Given the description of an element on the screen output the (x, y) to click on. 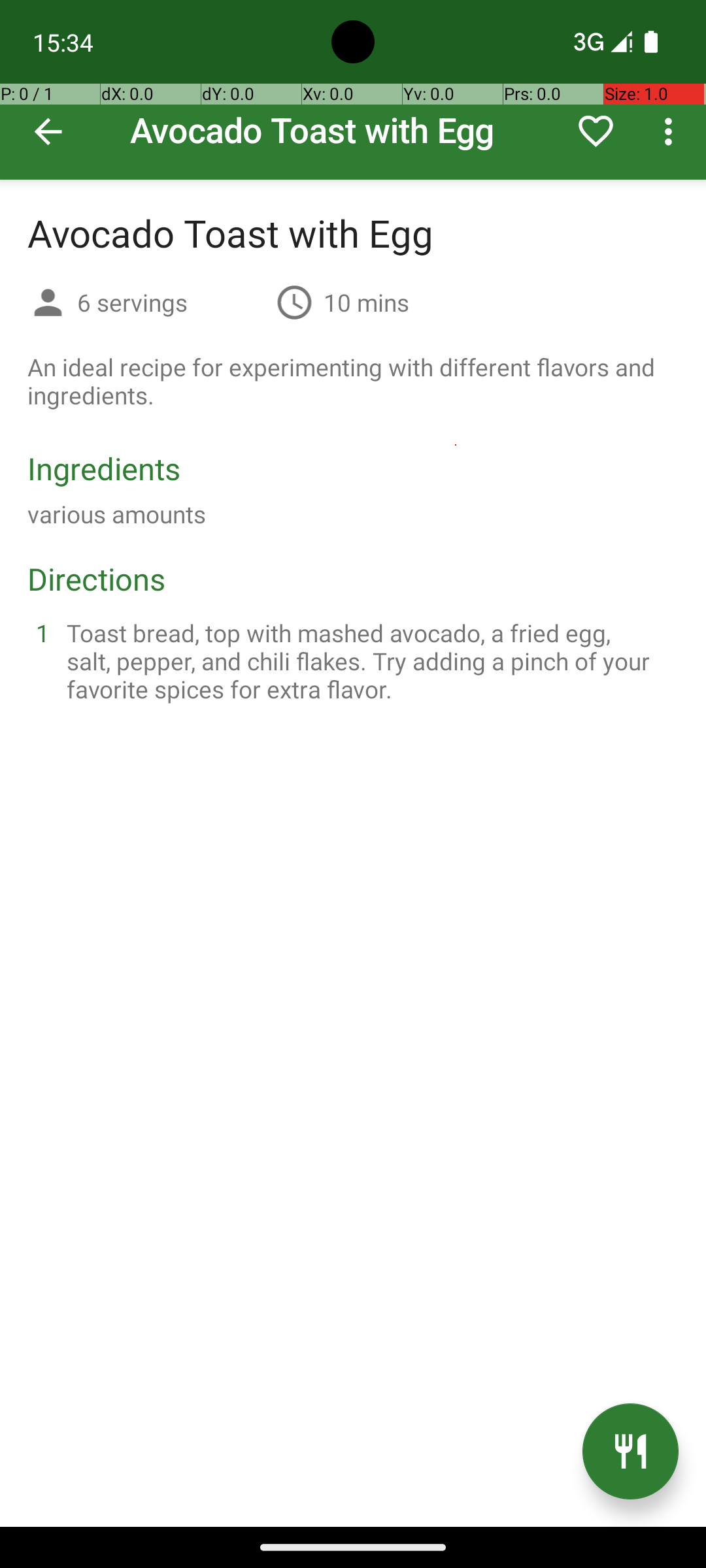
Avocado Toast with Egg Element type: android.widget.FrameLayout (353, 89)
Cook Element type: android.widget.ImageButton (630, 1451)
Recipe photo Element type: android.widget.ImageView (353, 89)
Mark as favorite Element type: android.widget.Button (595, 131)
Servings Element type: android.widget.ImageView (47, 303)
6 servings Element type: android.widget.TextView (170, 301)
10 mins Element type: android.widget.TextView (366, 301)
An ideal recipe for experimenting with different flavors and ingredients. Element type: android.widget.TextView (352, 380)
Ingredients Element type: android.widget.TextView (103, 467)
various amounts Element type: android.widget.TextView (116, 513)
Directions Element type: android.widget.TextView (96, 578)
Toast bread, top with mashed avocado, a fried egg, salt, pepper, and chili flakes. Try adding a pinch of your favorite spices for extra flavor. Element type: android.widget.TextView (368, 660)
